Given the description of an element on the screen output the (x, y) to click on. 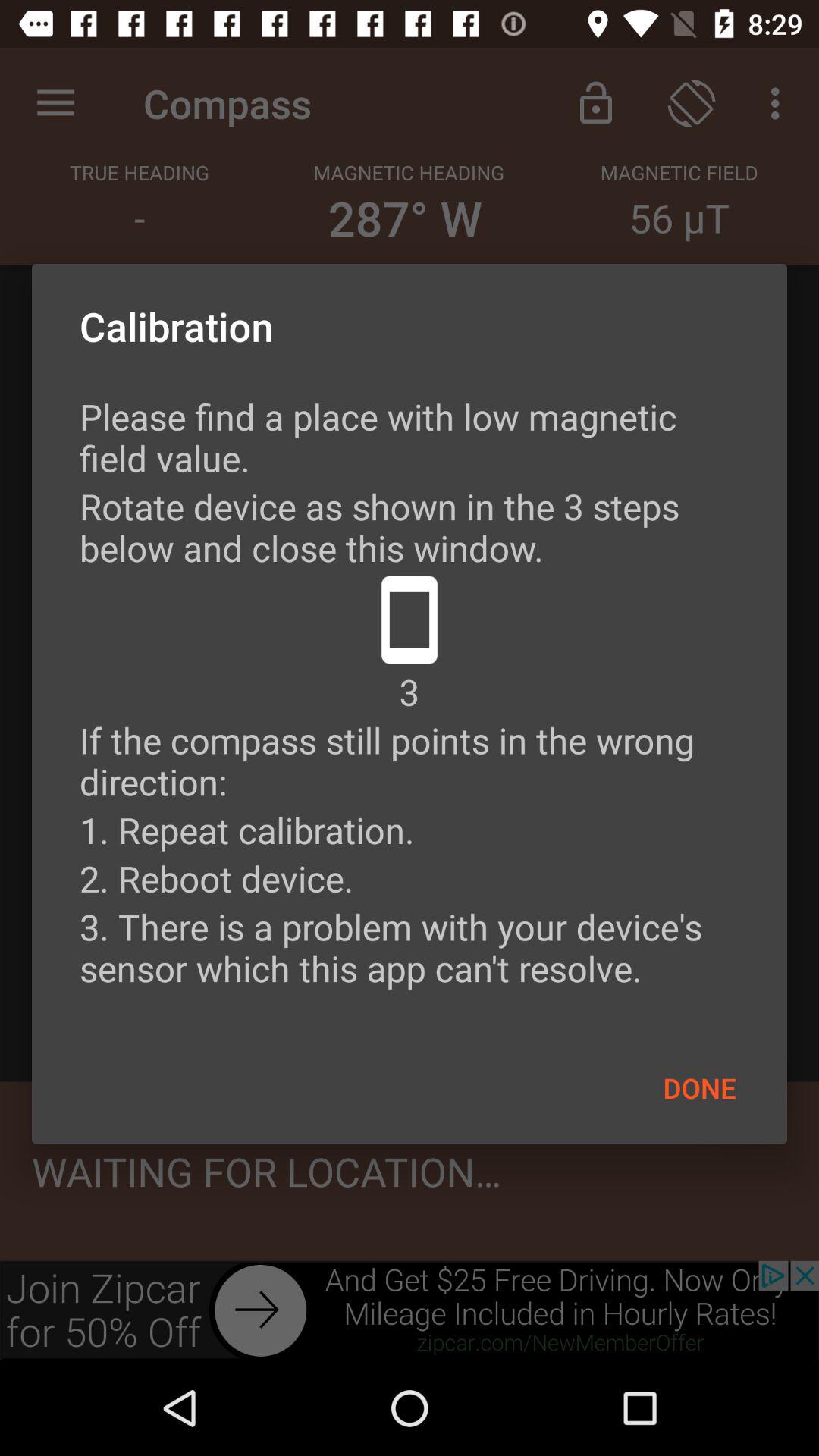
swipe until the done icon (699, 1087)
